Given the description of an element on the screen output the (x, y) to click on. 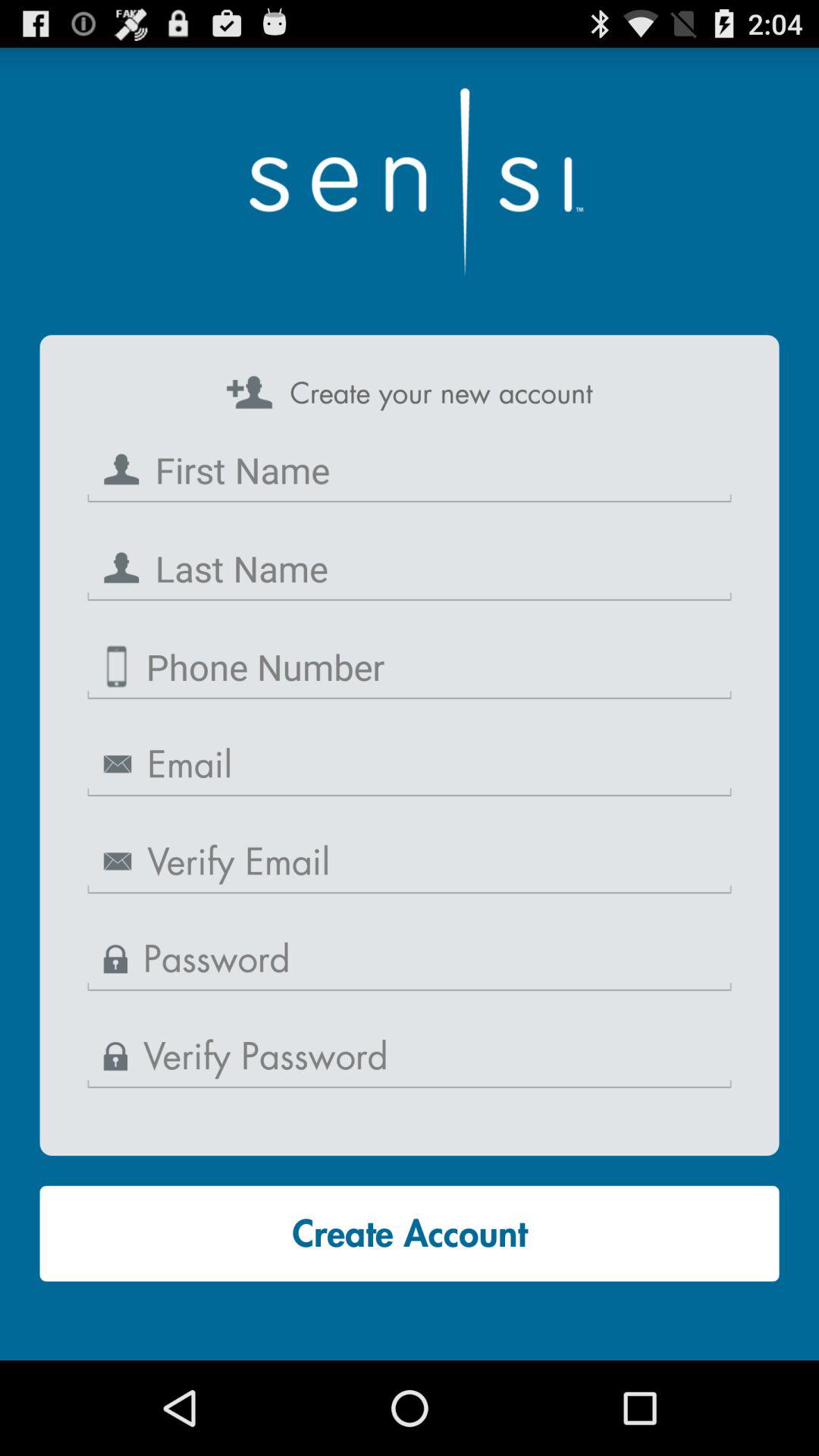
input information (409, 569)
